Given the description of an element on the screen output the (x, y) to click on. 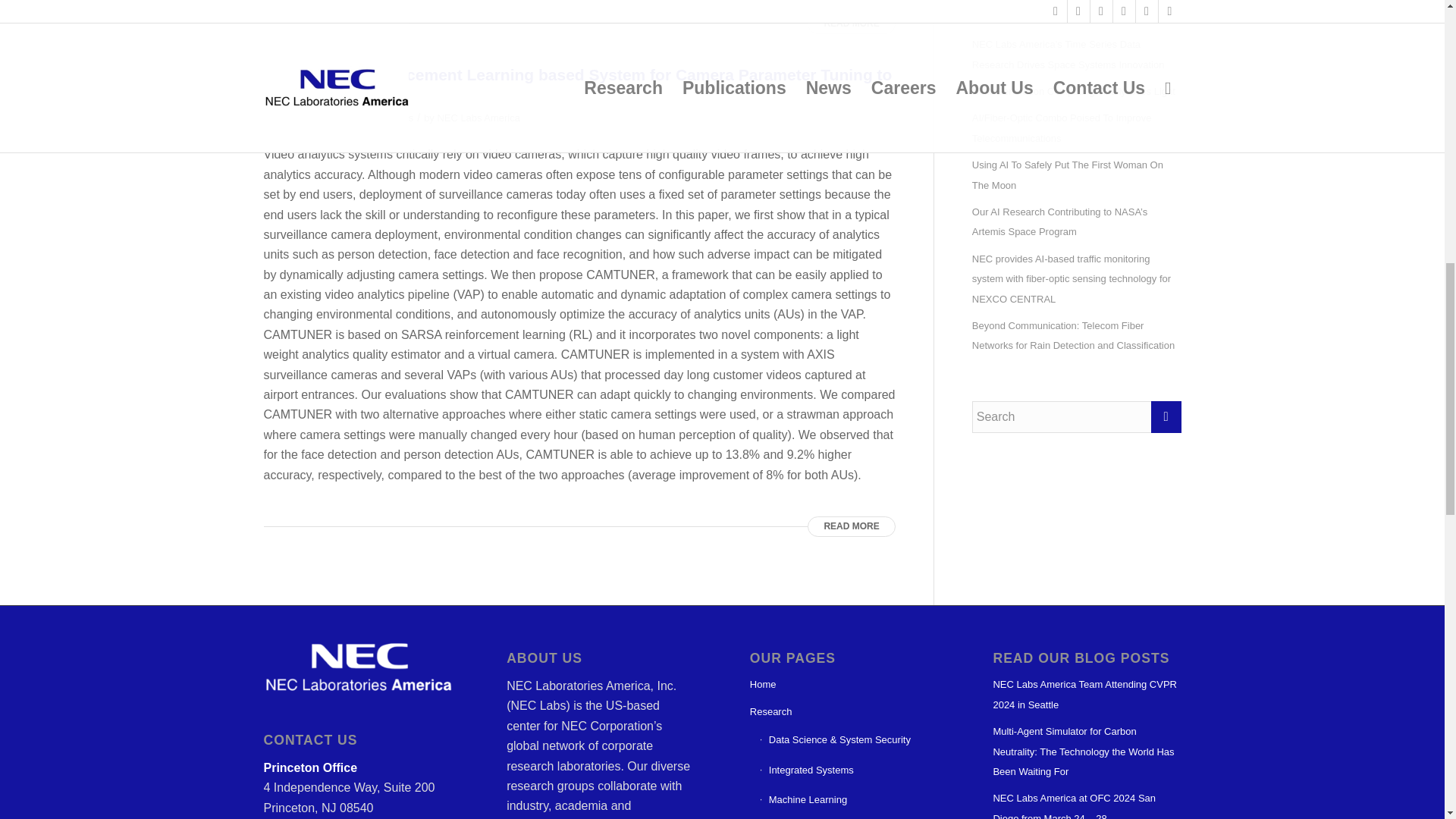
Posts by NEC Labs America (477, 117)
READ MORE (851, 23)
Publications (386, 117)
